Given the description of an element on the screen output the (x, y) to click on. 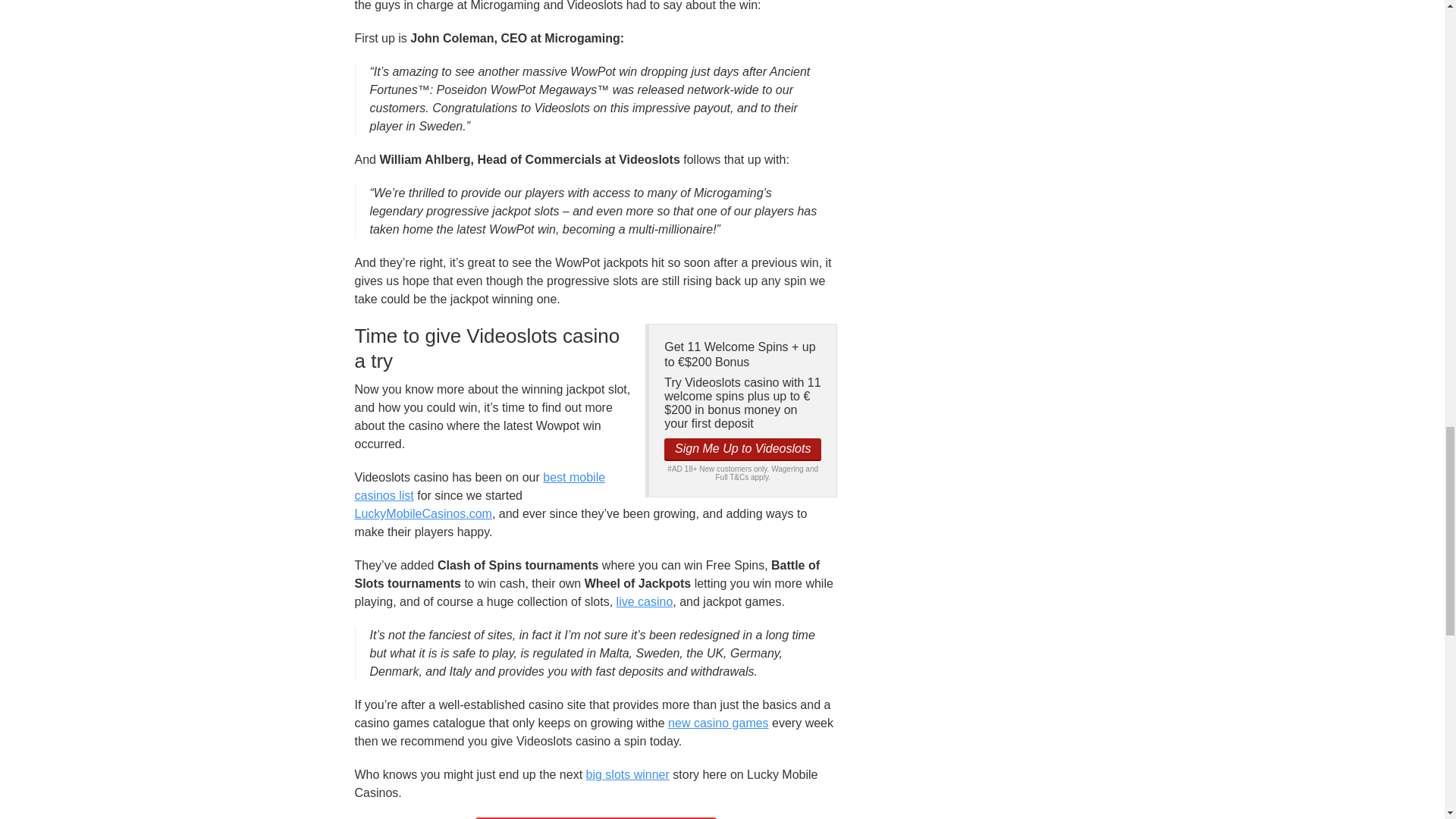
Sign Me Up to Videoslots (742, 449)
live casino (643, 601)
LuckyMobileCasinos.com (423, 513)
Sign Me Up to Videoslots (742, 449)
new casino games (718, 722)
best mobile casinos list (480, 486)
big slots winner (627, 774)
